Given the description of an element on the screen output the (x, y) to click on. 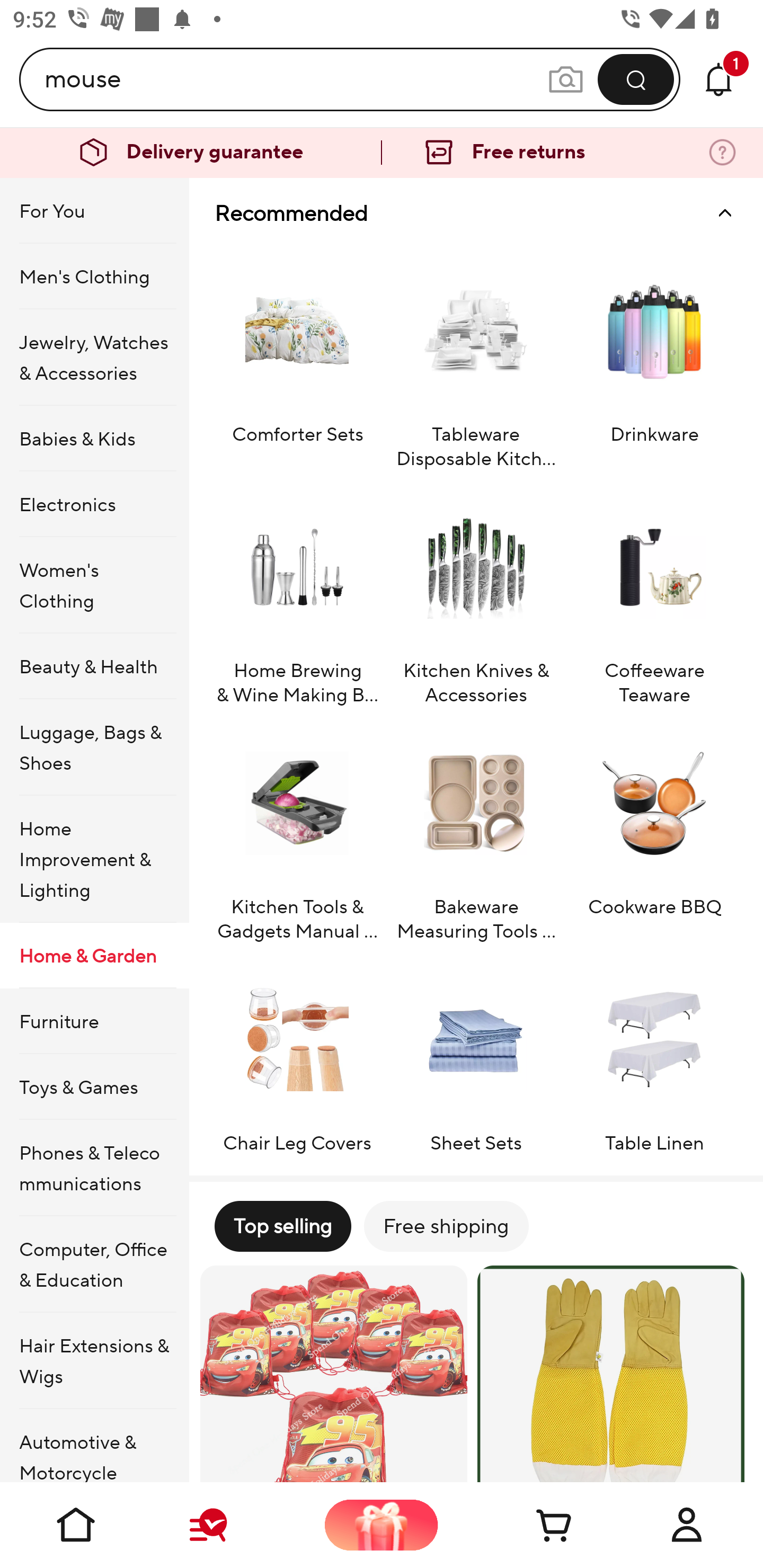
mouse Search query (295, 79)
Messages 1 (718, 79)
Delivery guarantee Free returns (381, 152)
For You (94, 210)
Recommended  (476, 212)
Men's Clothing (94, 275)
Comforter Sets (296, 359)
Drinkware (654, 359)
Jewelry, Watches & Accessories (94, 357)
Babies & Kids (94, 438)
Electronics (94, 504)
Home Brewing & Wine Making Barware (296, 596)
Kitchen Knives & Accessories (475, 596)
Coffeeware Teaware (654, 596)
Women's Clothing (94, 585)
Beauty & Health (94, 666)
Luggage, Bags & Shoes (94, 746)
Kitchen Tools & Gadgets Manual Food Processors (296, 832)
Bakeware Measuring Tools & Scales (475, 832)
Cookware BBQ (654, 832)
Home Improvement & Lighting (94, 858)
Home & Garden (94, 955)
Chair Leg Covers (296, 1056)
Sheet Sets (475, 1056)
Table Linen (654, 1056)
Furniture (94, 1020)
Toys & Games (94, 1086)
Phones & Telecommunications (94, 1167)
Top selling (282, 1226)
Free shipping (445, 1226)
Computer, Office & Education (94, 1264)
Hair Extensions & Wigs (94, 1360)
Automotive & Motorcycle (94, 1445)
Home (76, 1524)
Cart (533, 1524)
Account (686, 1524)
